Given the description of an element on the screen output the (x, y) to click on. 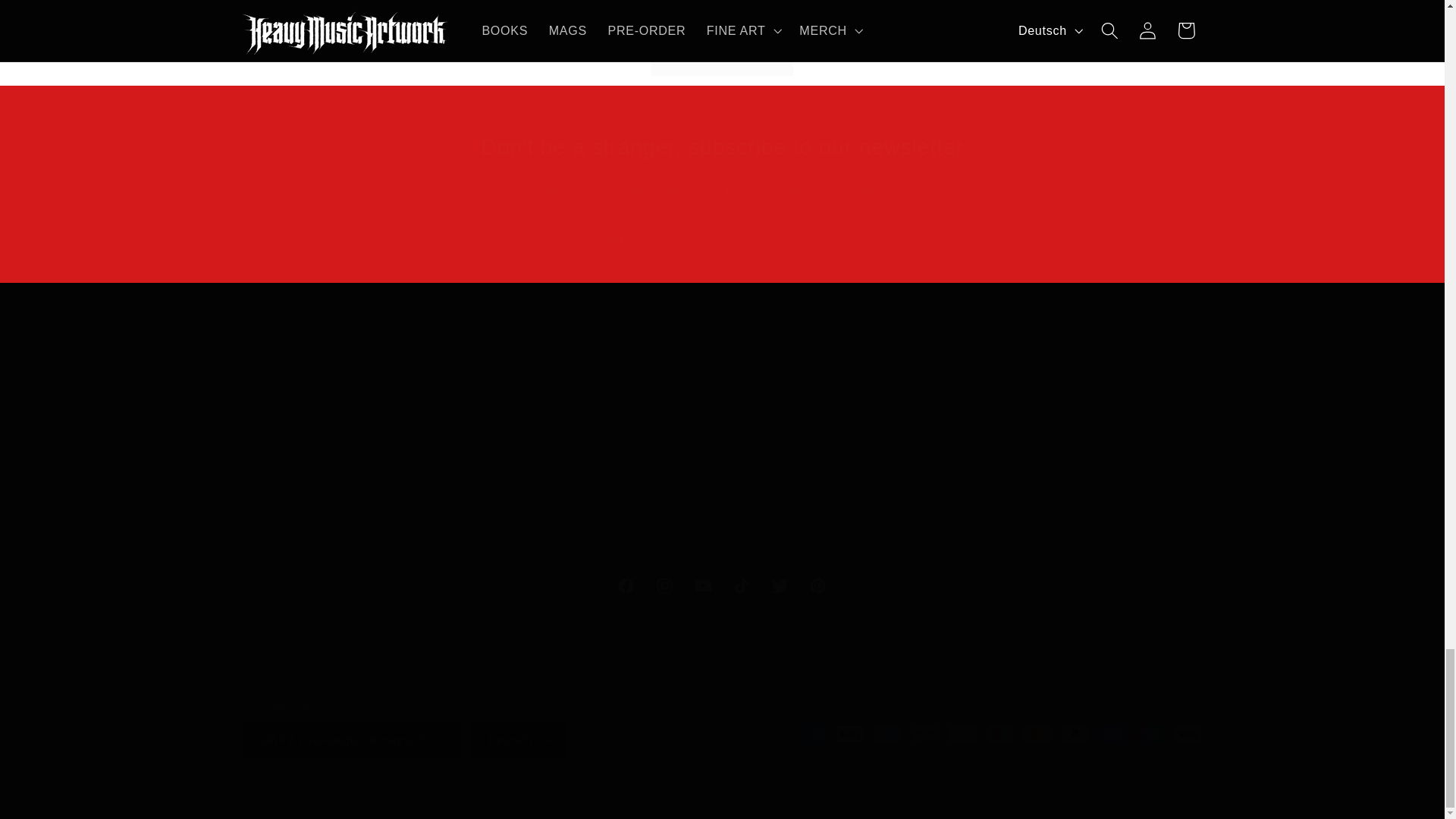
E-Mail (722, 586)
Don't be a stranger, subscribe to our newsletter (722, 240)
